Given the description of an element on the screen output the (x, y) to click on. 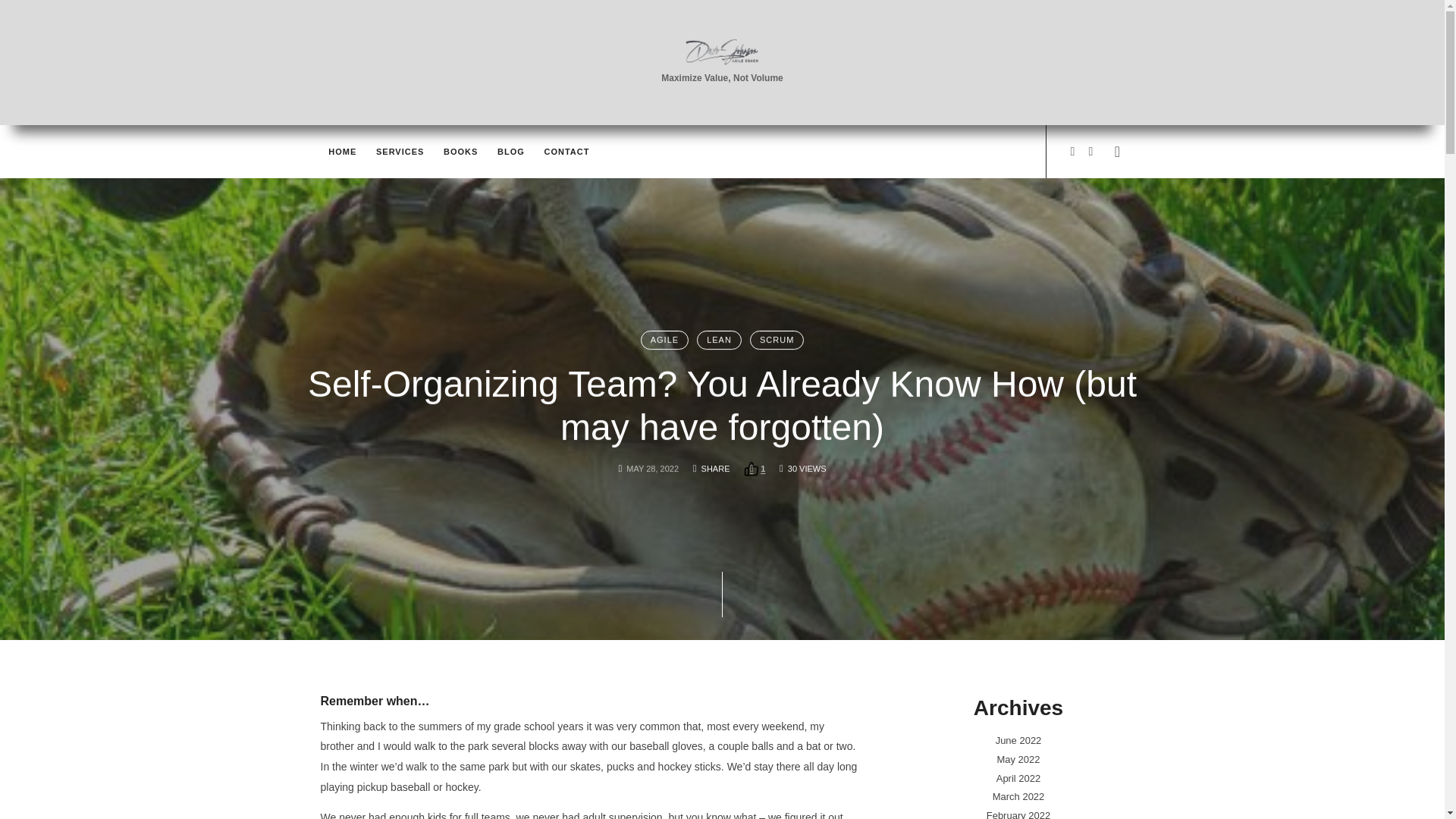
AGILE (664, 339)
SERVICES (399, 151)
Recommend this (754, 468)
1 (754, 468)
SCRUM (776, 339)
LEAN (719, 339)
DAVE JOHNSON AGILE COACH (721, 51)
MAY 28, 2022 (652, 467)
CONTACT (566, 151)
